Given the description of an element on the screen output the (x, y) to click on. 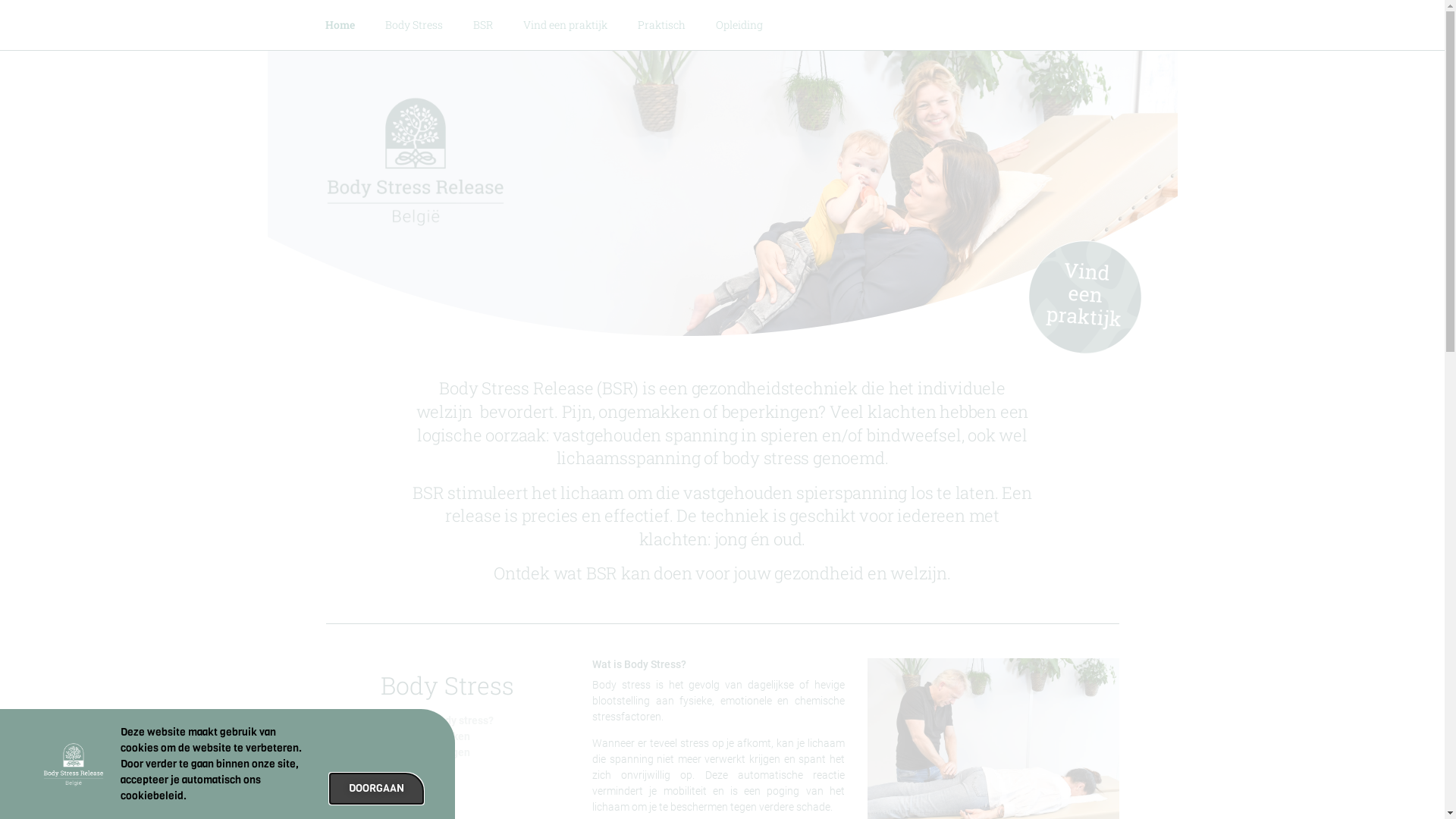
DOORGAAN Element type: text (376, 788)
Wat is body stress? Element type: text (447, 720)
Body Stress Element type: text (414, 24)
Gevolgen Element type: text (446, 752)
Home Element type: text (339, 24)
Vind een praktijk Element type: text (565, 24)
Opleiding Element type: text (739, 24)
Praktisch Element type: text (660, 24)
BSR Element type: text (483, 24)
Oorzaken Element type: text (446, 736)
